Given the description of an element on the screen output the (x, y) to click on. 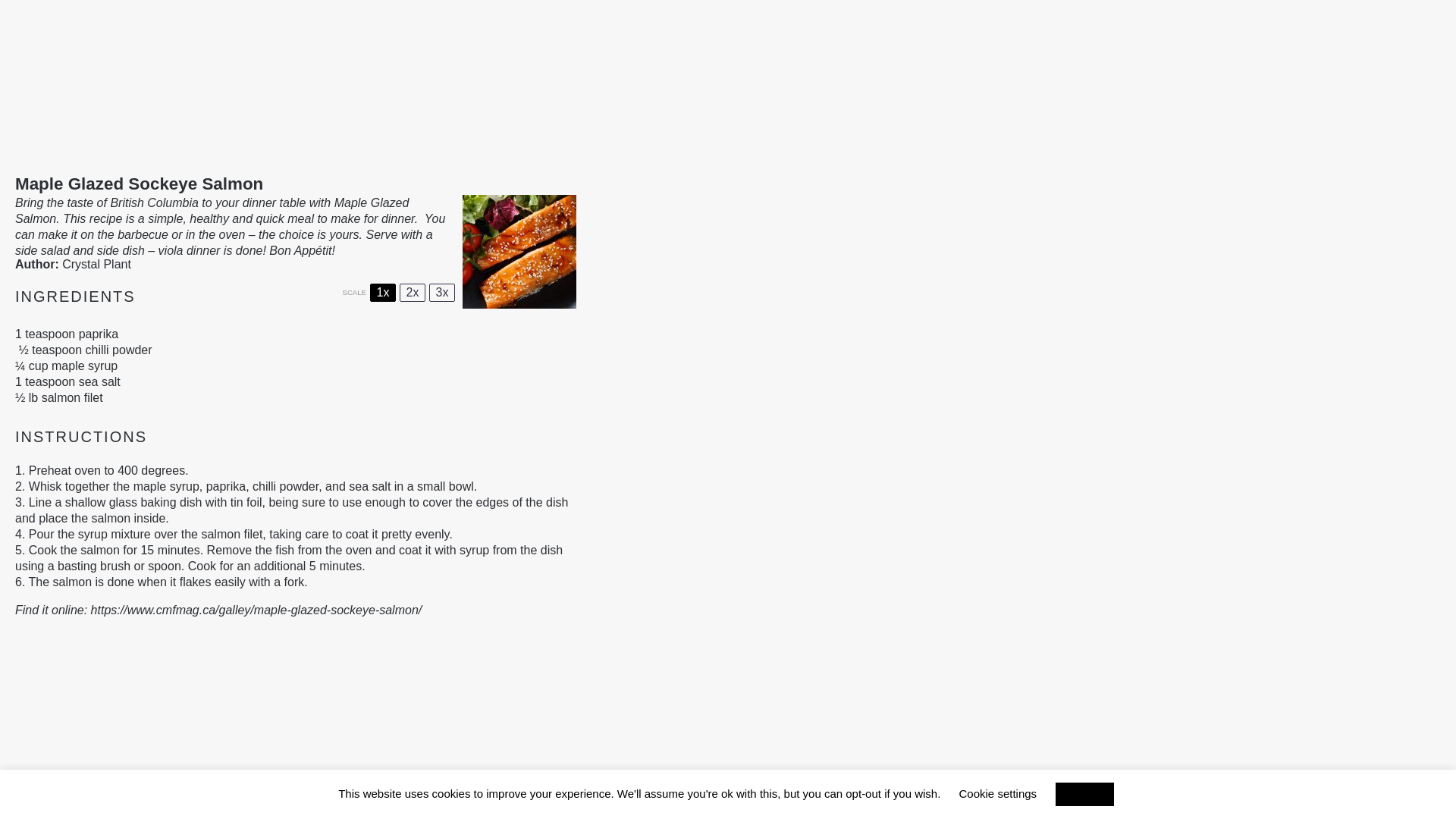
3x (441, 292)
2x (411, 292)
1x (382, 292)
